Given the description of an element on the screen output the (x, y) to click on. 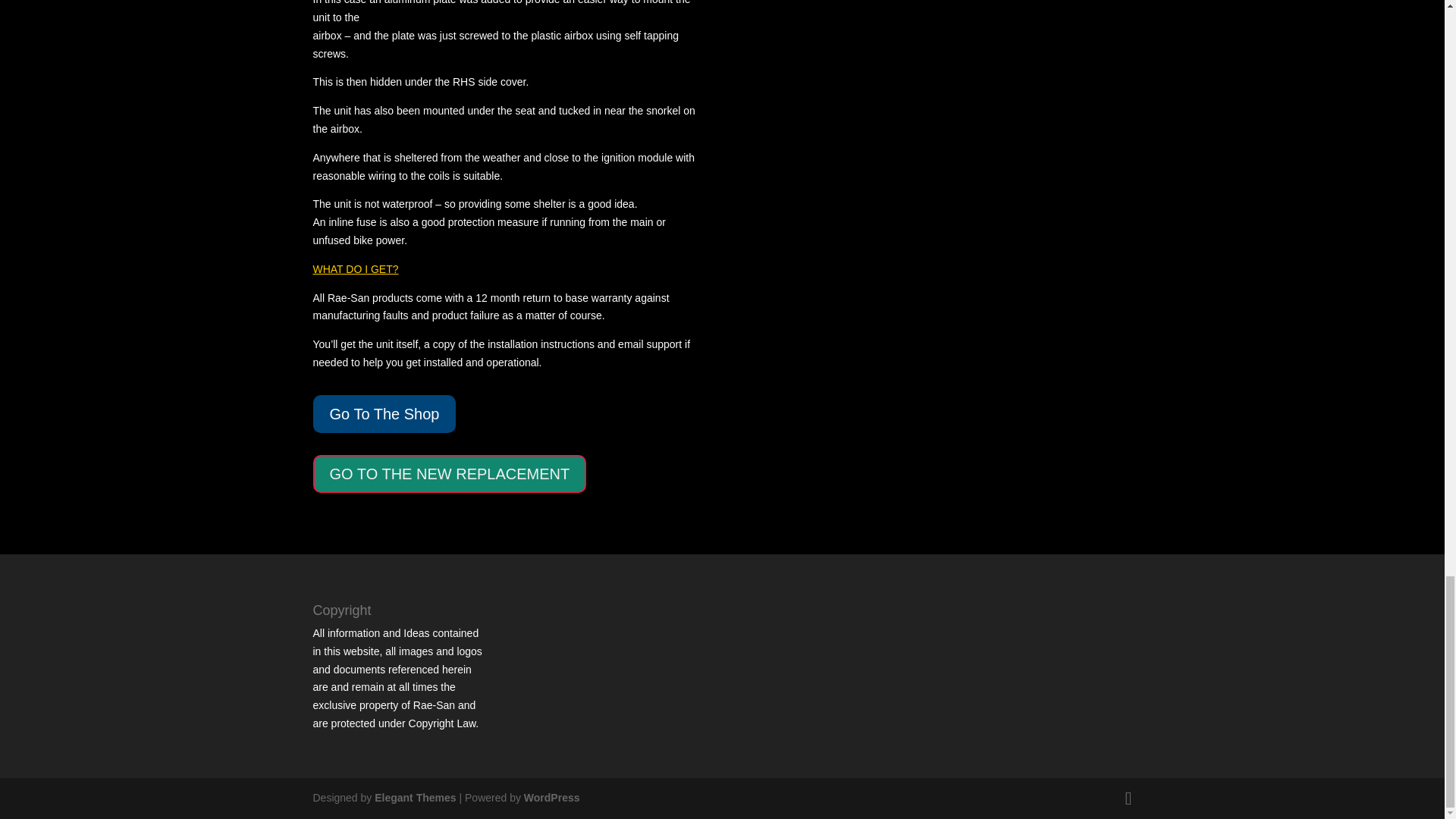
Premium WordPress Themes (414, 797)
